Given the description of an element on the screen output the (x, y) to click on. 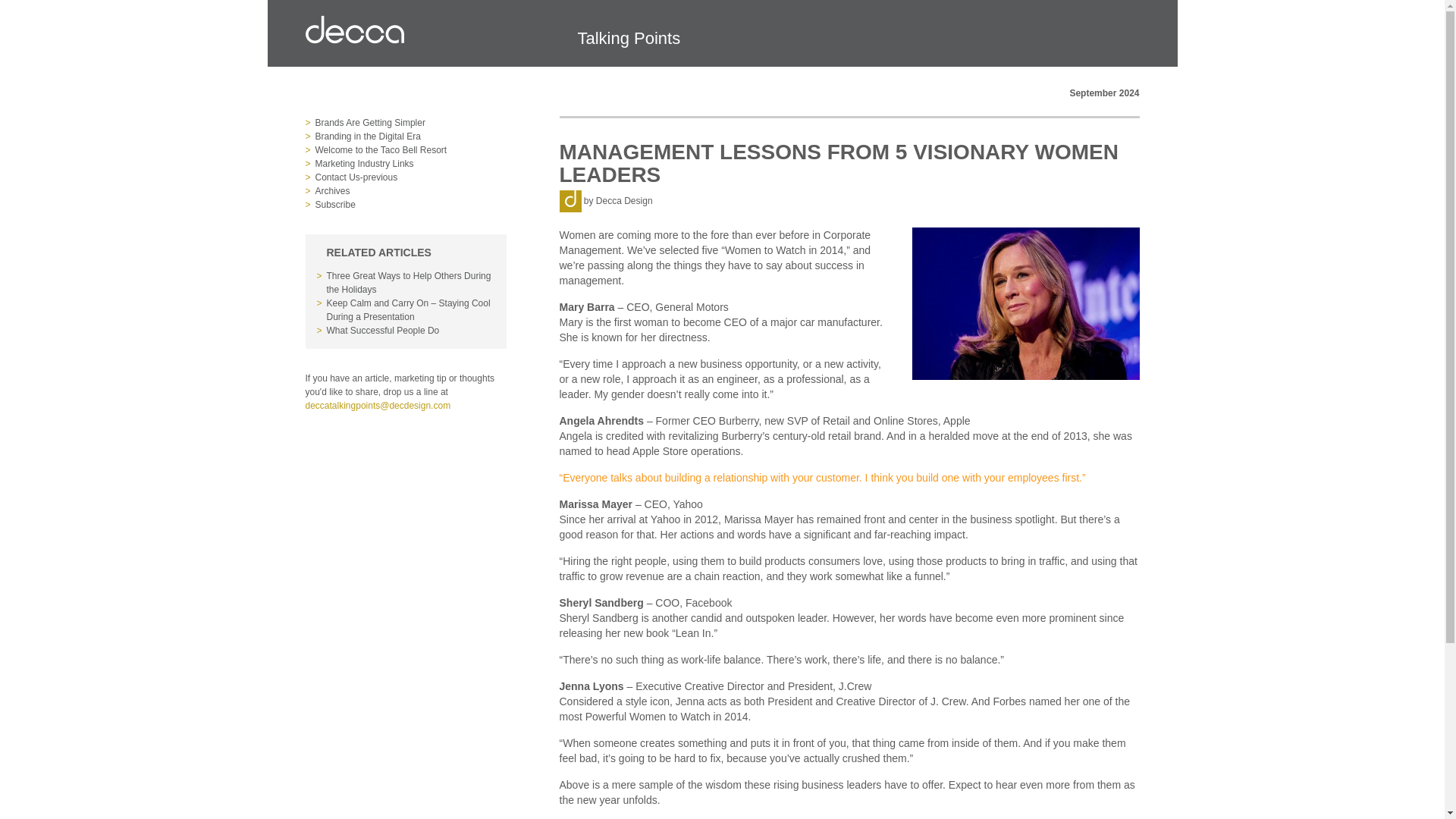
Archives (410, 191)
Contact Us-previous (410, 177)
What Successful People Do (410, 330)
Marketing Industry Links (410, 163)
Three Great Ways to Help Others During the Holidays (410, 282)
Subscribe (410, 204)
Branding in the Digital Era (410, 136)
What Successful People Do (410, 330)
Three Great Ways to Help Others During the Holidays (410, 282)
Brands Are Getting Simpler (410, 122)
